Given the description of an element on the screen output the (x, y) to click on. 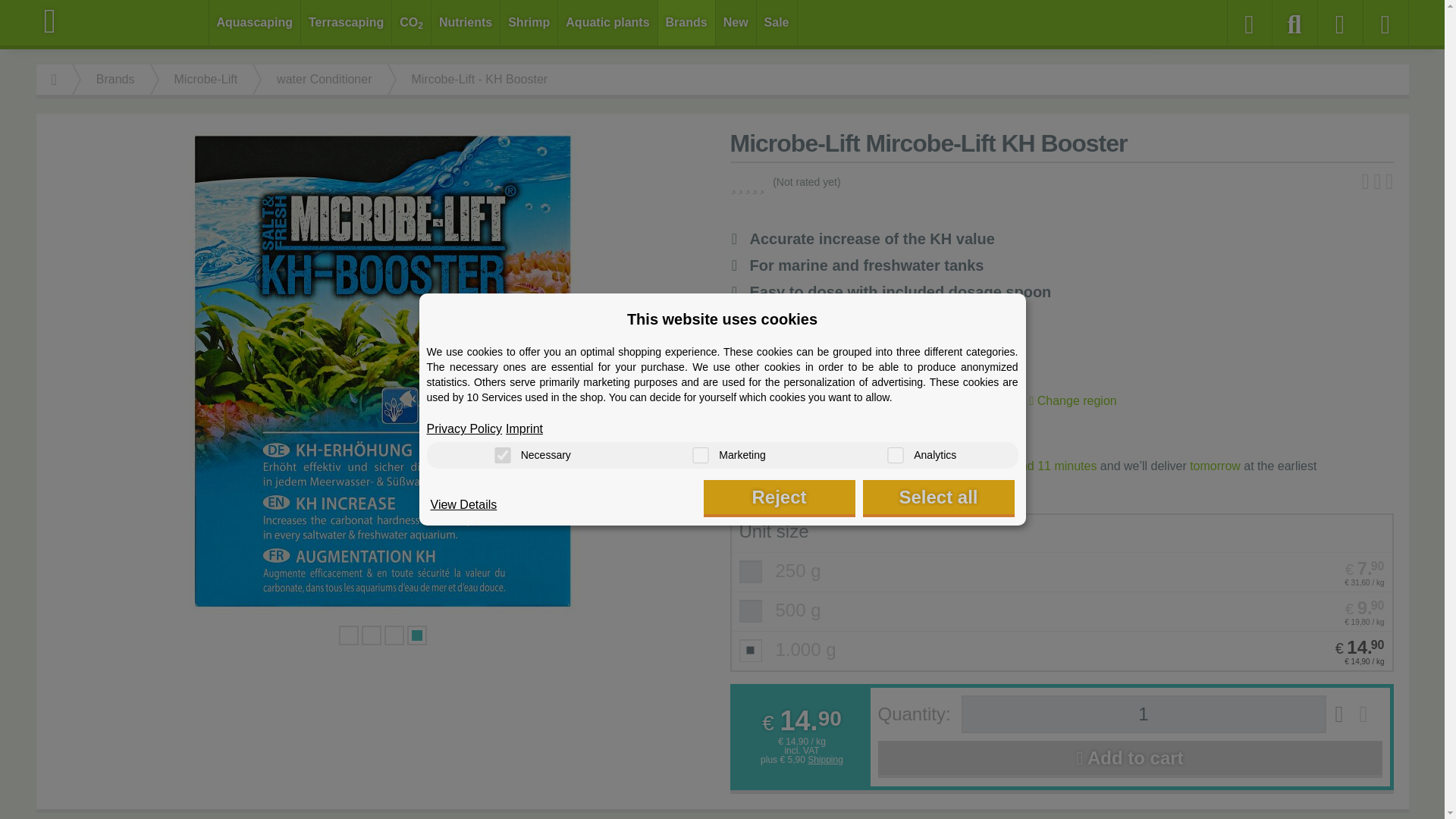
on (699, 455)
on (501, 455)
Aquascaping (254, 22)
on (895, 455)
Aquasabi (123, 21)
1 (1143, 714)
